Given the description of an element on the screen output the (x, y) to click on. 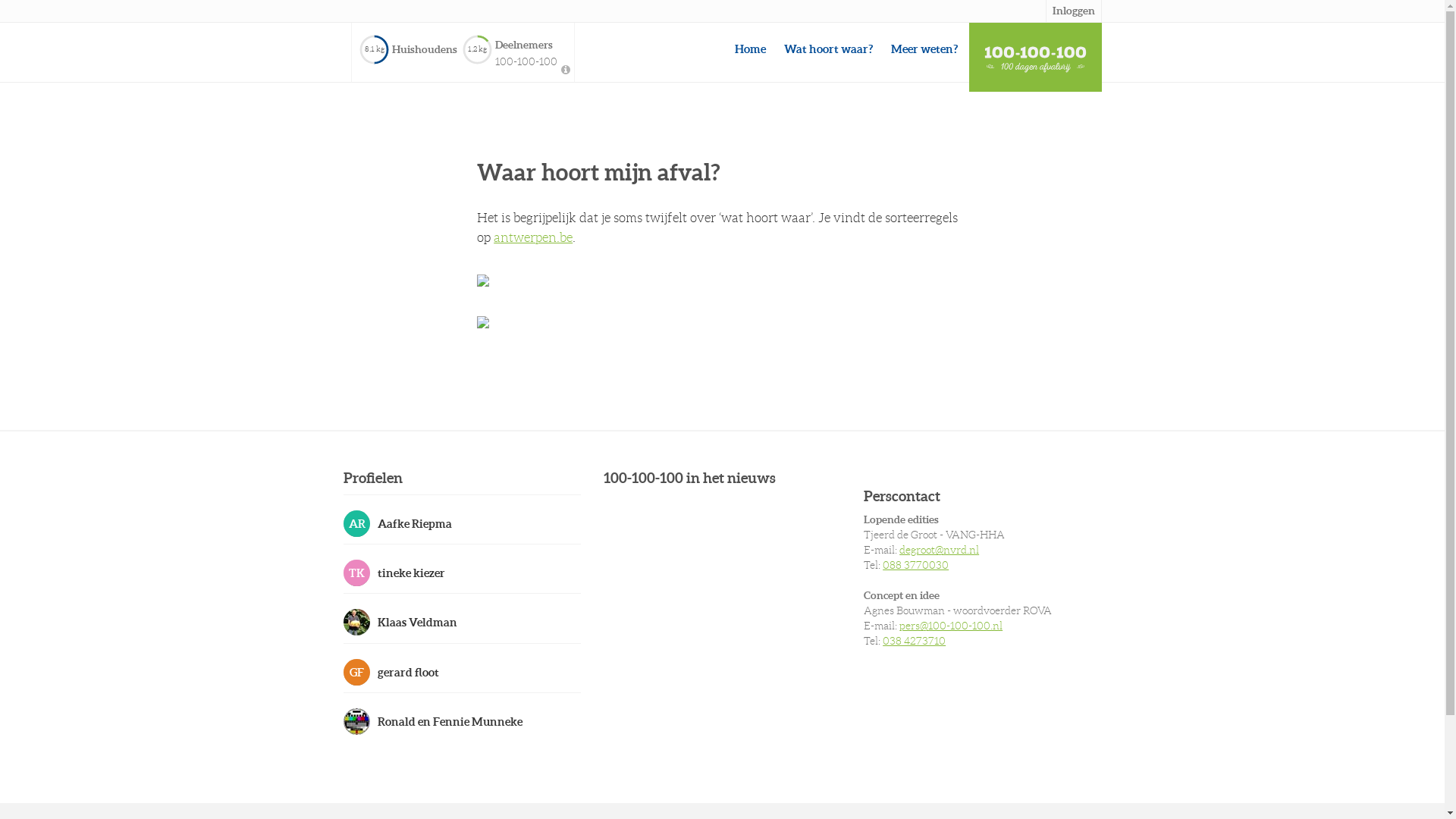
Klaas Veldman Element type: text (461, 621)
pers@100-100-100.nl Element type: text (950, 625)
degroot@nvrd.nl Element type: text (939, 549)
Inloggen Element type: text (1072, 10)
Ronald en Fennie Munneke Element type: text (461, 721)
Home Element type: text (749, 48)
Wat hoort waar? Element type: text (828, 48)
088 3770030 Element type: text (915, 564)
Meer weten? Element type: text (923, 48)
antwerpen.be Element type: text (532, 237)
Aafke Riepma Element type: text (461, 523)
Afvalmeter: Gemiddelde storting per week Element type: hover (565, 70)
038 4273710 Element type: text (913, 640)
gerard floot Element type: text (461, 671)
tineke kiezer Element type: text (461, 572)
